Given the description of an element on the screen output the (x, y) to click on. 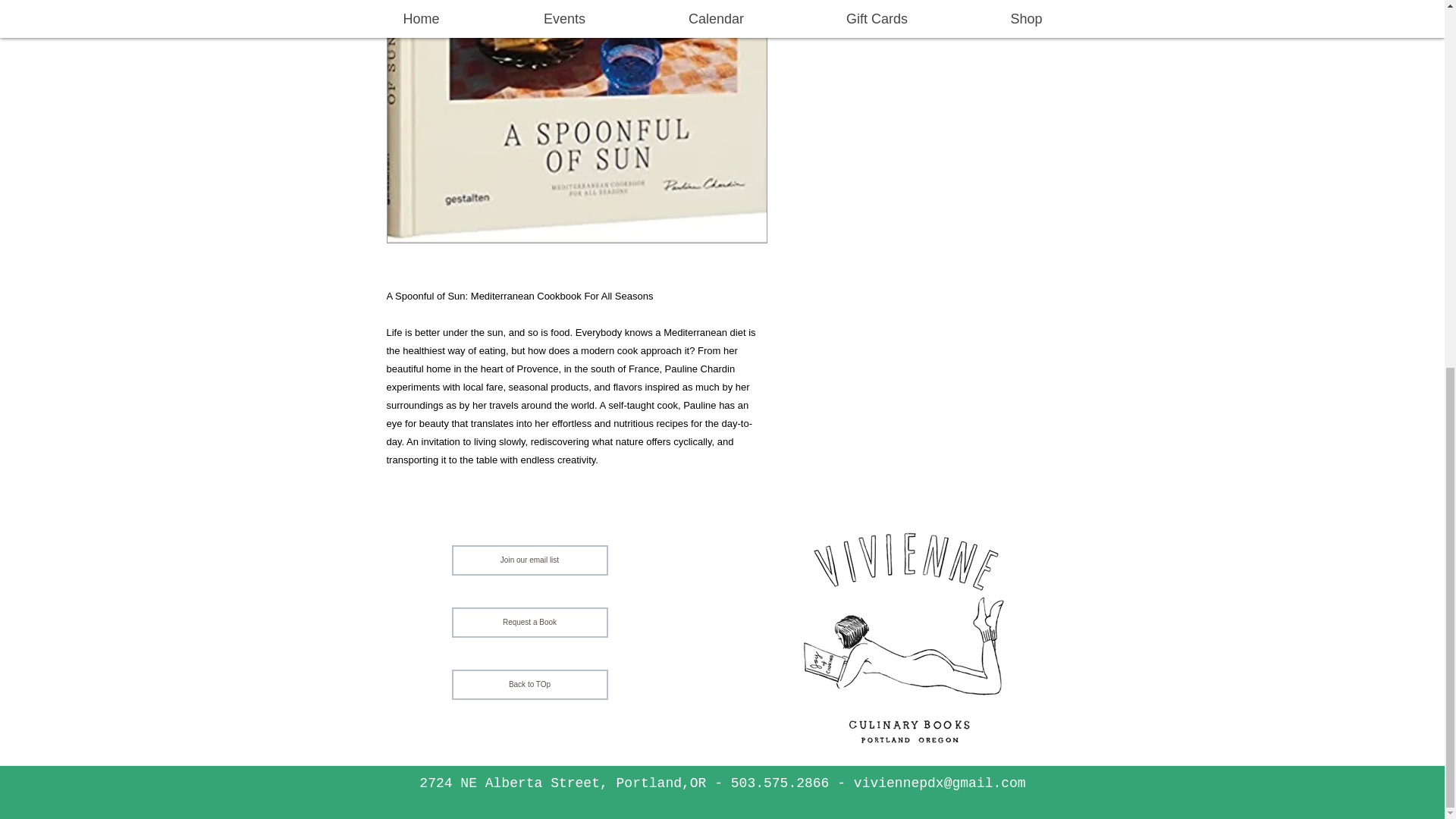
Back to TOp (529, 684)
Join our email list (529, 560)
Request a Book (529, 622)
